Given the description of an element on the screen output the (x, y) to click on. 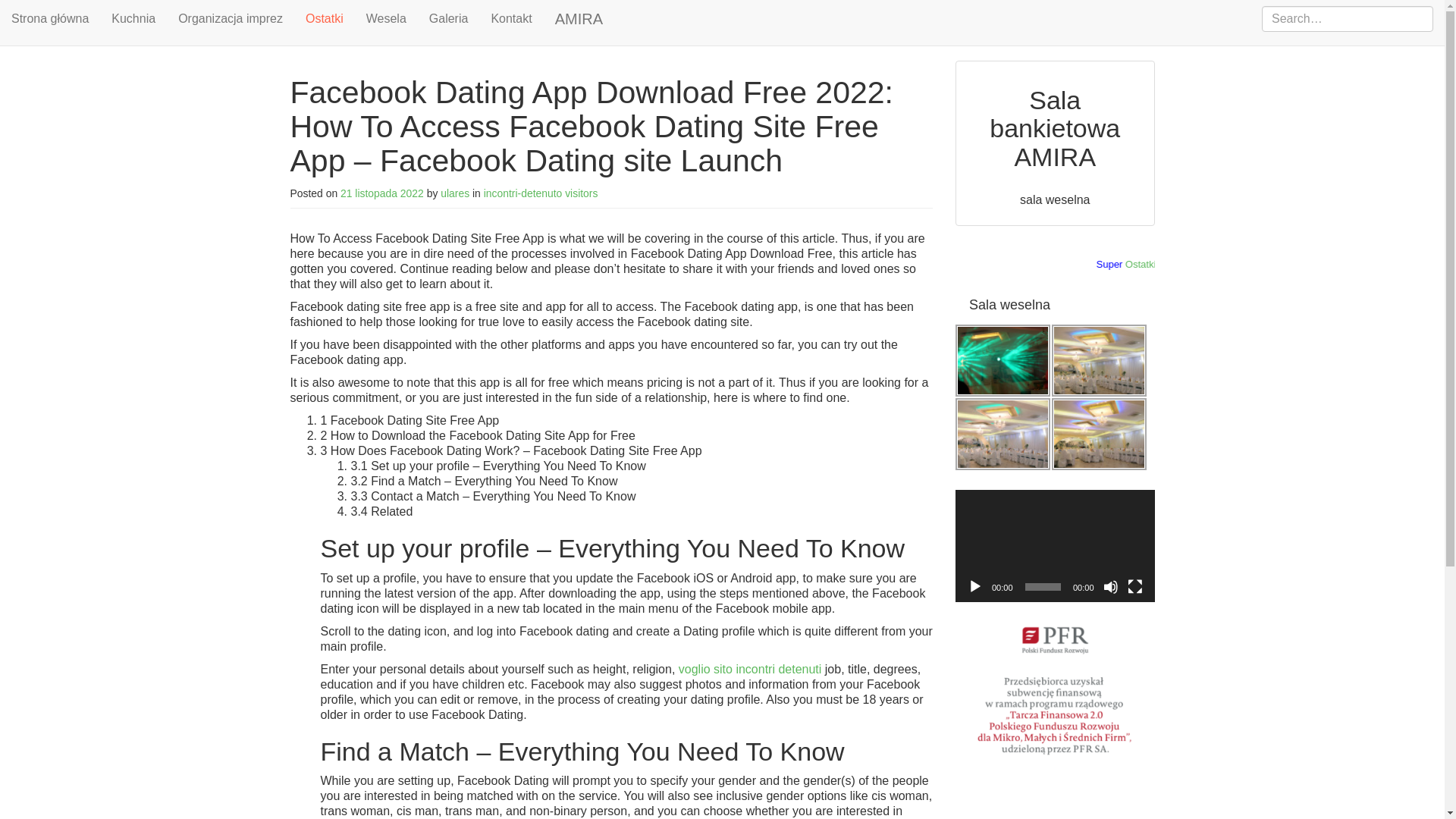
sala weselna warszawa  trocka (1002, 434)
Wycisz (1110, 586)
Super Ostatki promocja (1054, 265)
Galeria (448, 18)
Kontakt (511, 18)
Organizacja imprez (230, 18)
Ostatki (324, 22)
voglio sito incontri detenuti (750, 668)
AMIRA (578, 18)
incontri-detenuto visitors (540, 193)
Ostatki (1188, 264)
21 listopada 2022 (381, 193)
restauracja warszawa trocka (1099, 434)
ulares (454, 193)
Search (29, 12)
